Given the description of an element on the screen output the (x, y) to click on. 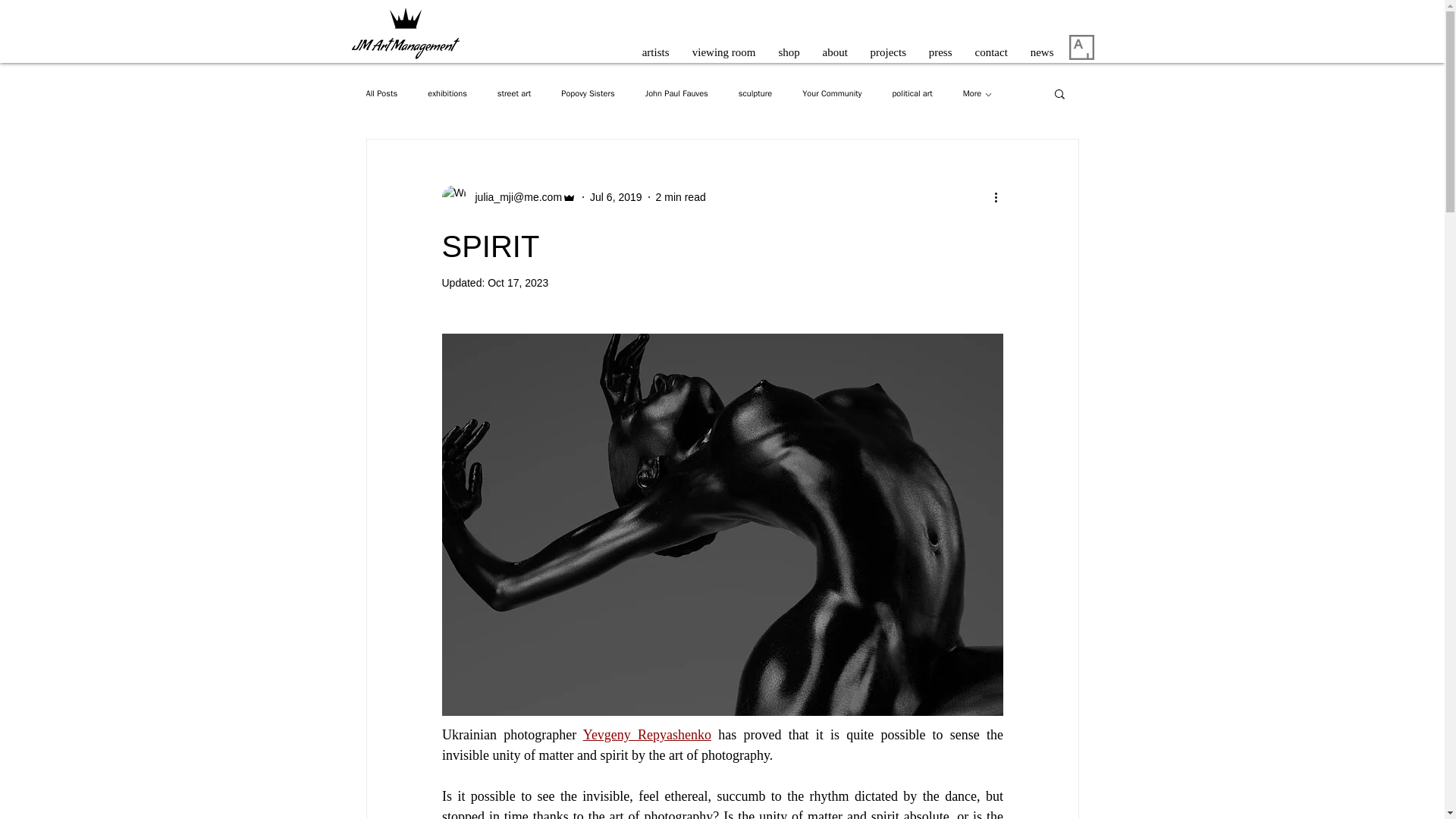
viewing room (724, 45)
All Posts (381, 93)
sculpture (754, 93)
news (1042, 45)
press (940, 45)
about (834, 45)
exhibitions (447, 93)
projects (888, 45)
Popovy Sisters (587, 93)
Oct 17, 2023 (517, 282)
shop (788, 45)
street art (514, 93)
artists (655, 45)
contact (989, 45)
political art (911, 93)
